Given the description of an element on the screen output the (x, y) to click on. 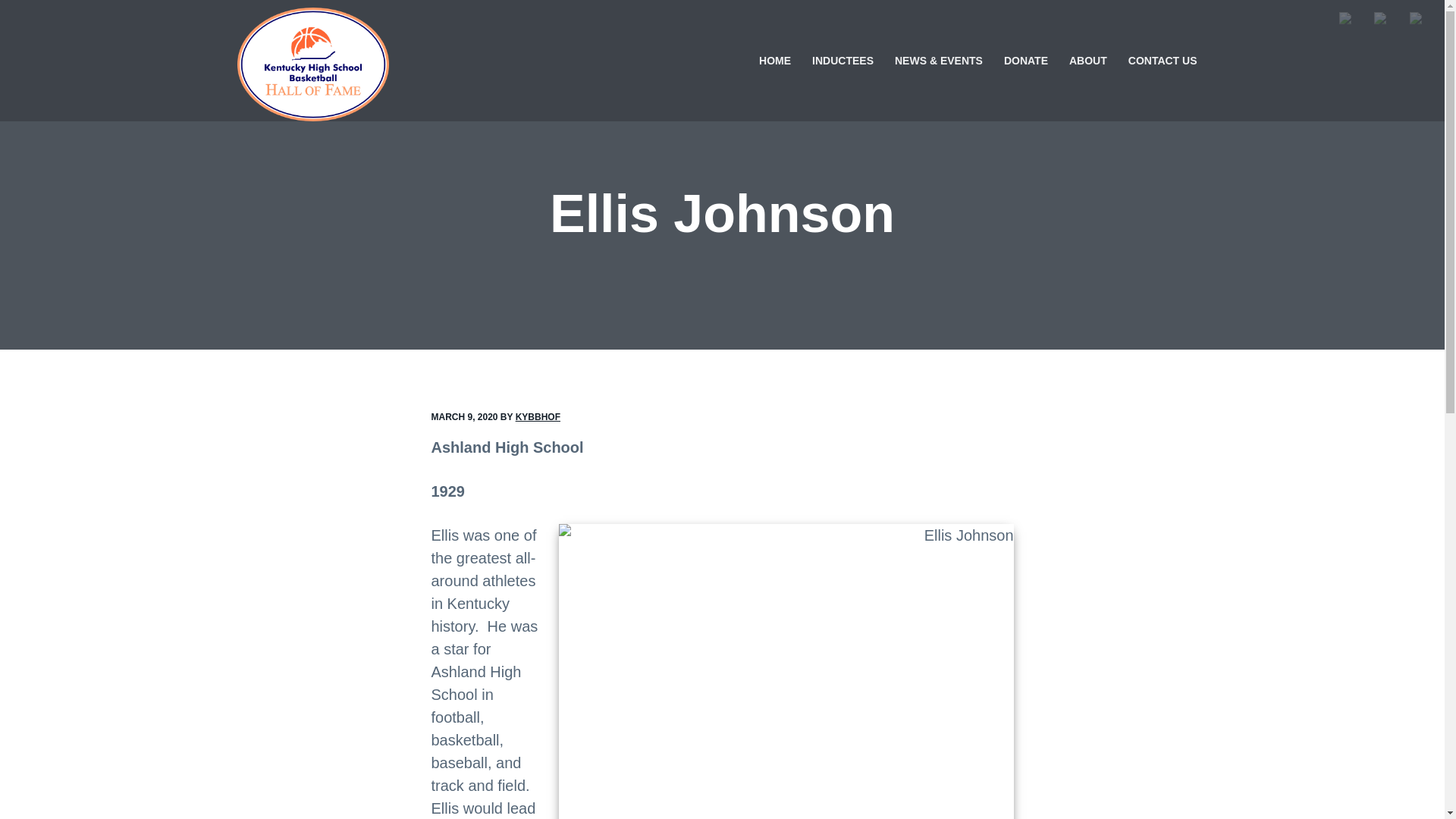
KYBBHOF (537, 416)
KENTUCKY HIGH SCHOOL BASKETBALL HALL OF FAME (413, 127)
CONTACT US (1163, 60)
INDUCTEES (842, 60)
